Given the description of an element on the screen output the (x, y) to click on. 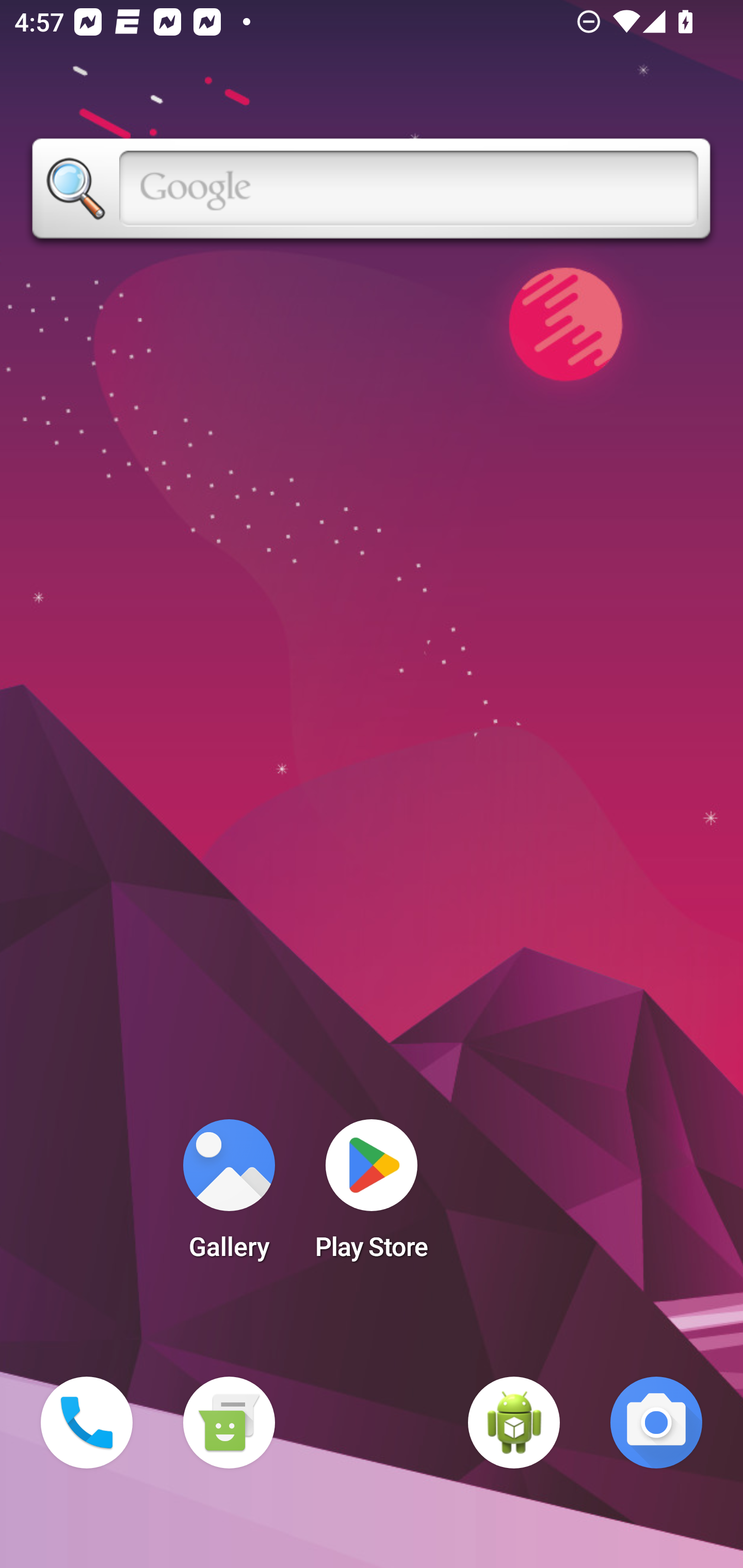
Gallery (228, 1195)
Play Store (371, 1195)
Phone (86, 1422)
Messaging (228, 1422)
WebView Browser Tester (513, 1422)
Camera (656, 1422)
